Given the description of an element on the screen output the (x, y) to click on. 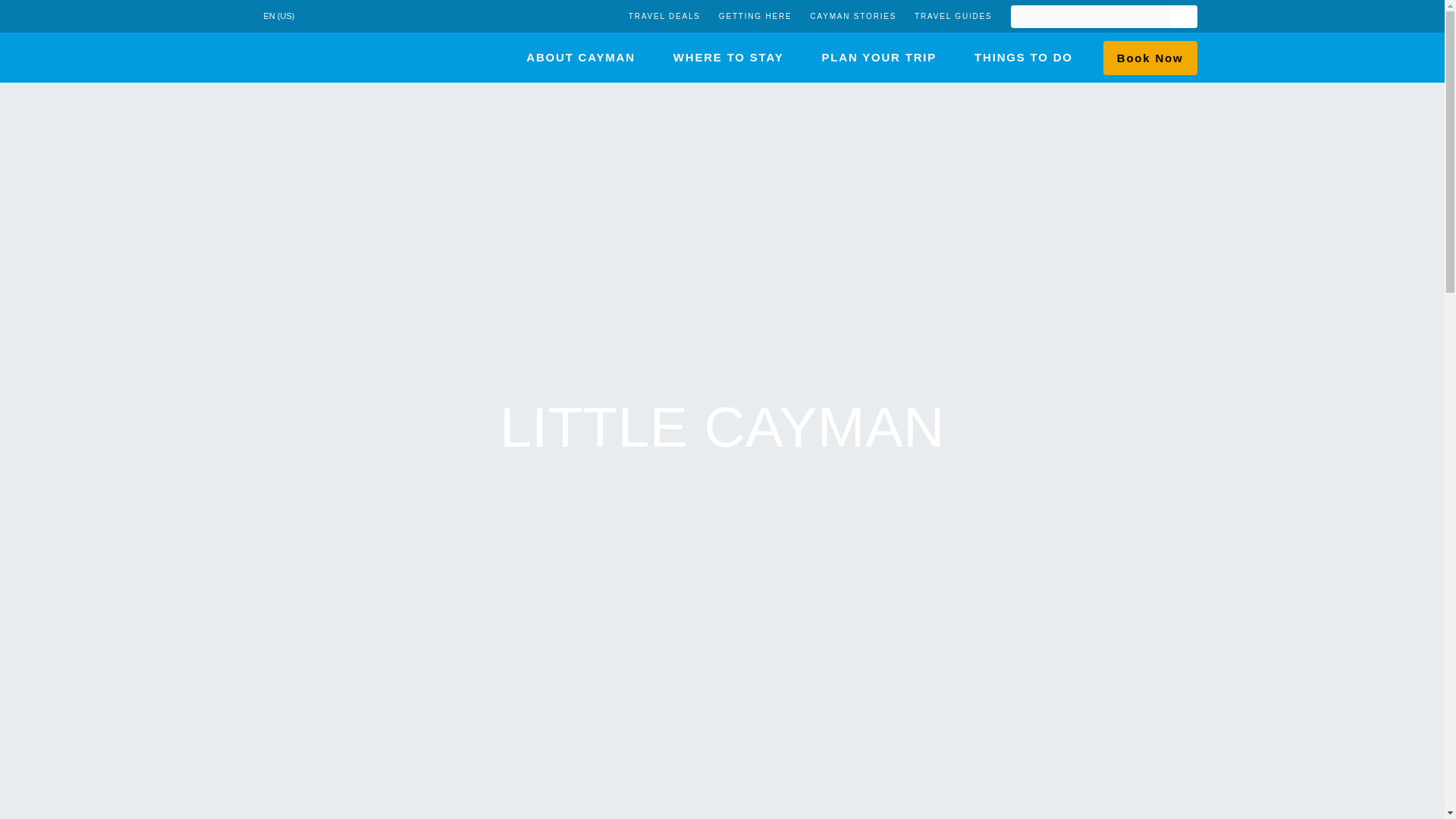
TRAVEL DEALS (664, 16)
CAYMAN STORIES (852, 16)
TRAVEL GUIDES (952, 16)
Search (1183, 15)
WHERE TO STAY (728, 57)
GETTING HERE (755, 16)
PLAN YOUR TRIP (878, 57)
THINGS TO DO (1023, 57)
Book Now (1149, 57)
ABOUT CAYMAN (579, 57)
